Given the description of an element on the screen output the (x, y) to click on. 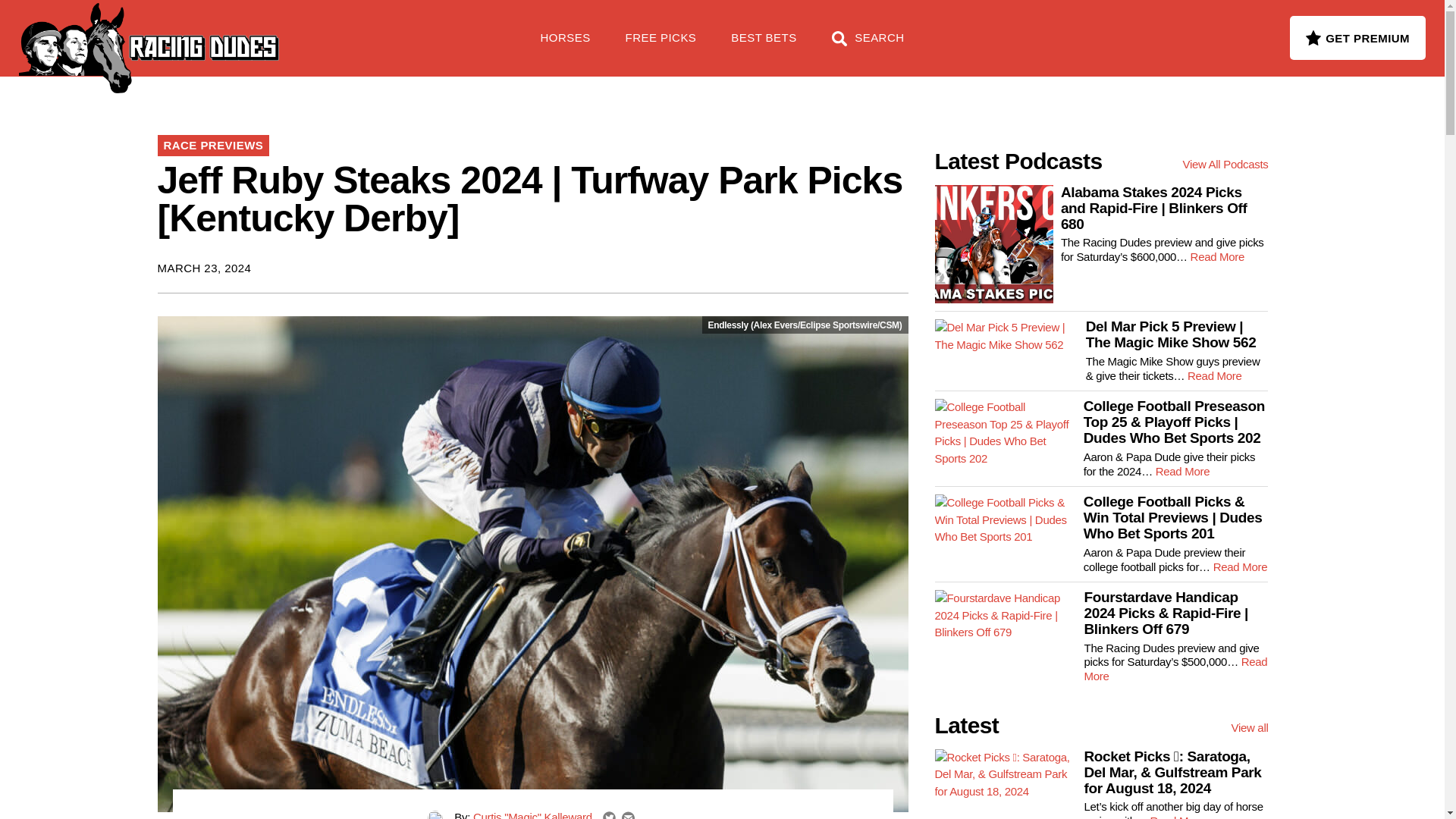
FREE PICKS (661, 45)
BEST BETS (763, 45)
PODCASTS (354, 29)
FREE PICKS (245, 29)
GET PREMIUM (1357, 37)
 SEARCH (867, 45)
Posts by Curtis "Magic" Kalleward (532, 814)
HORSES (565, 45)
